Given the description of an element on the screen output the (x, y) to click on. 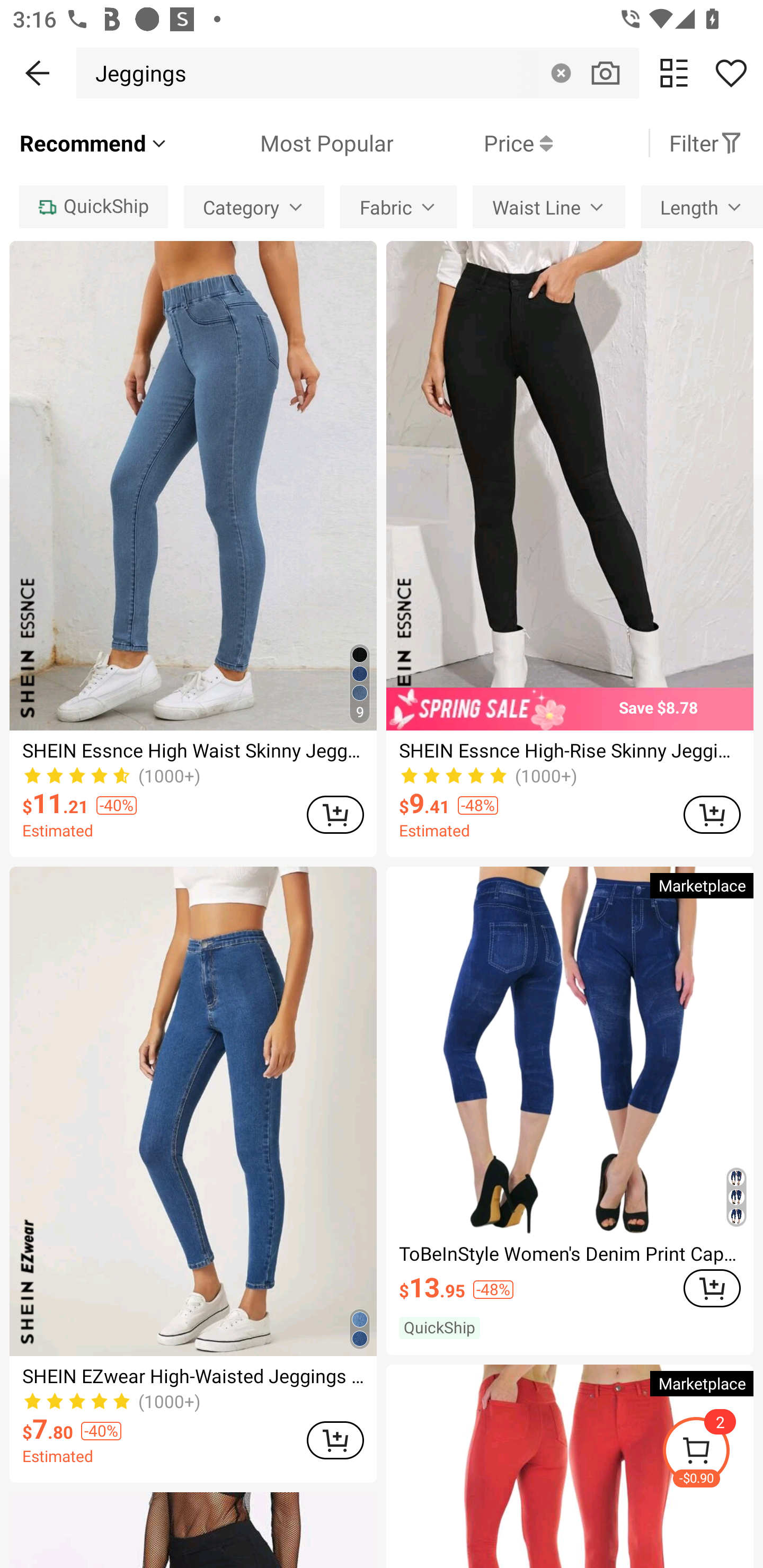
Jeggings (136, 72)
Clear (560, 72)
change view (673, 72)
Share (730, 72)
Recommend (94, 143)
Most Popular (280, 143)
Price (472, 143)
Filter (705, 143)
QuickShip (93, 206)
Category (253, 206)
Fabric (398, 206)
Waist Line (548, 206)
Length (701, 206)
ADD TO CART (334, 814)
ADD TO CART (711, 814)
ADD TO CART (711, 1287)
-$0.90 (712, 1452)
ADD TO CART (334, 1439)
